Given the description of an element on the screen output the (x, y) to click on. 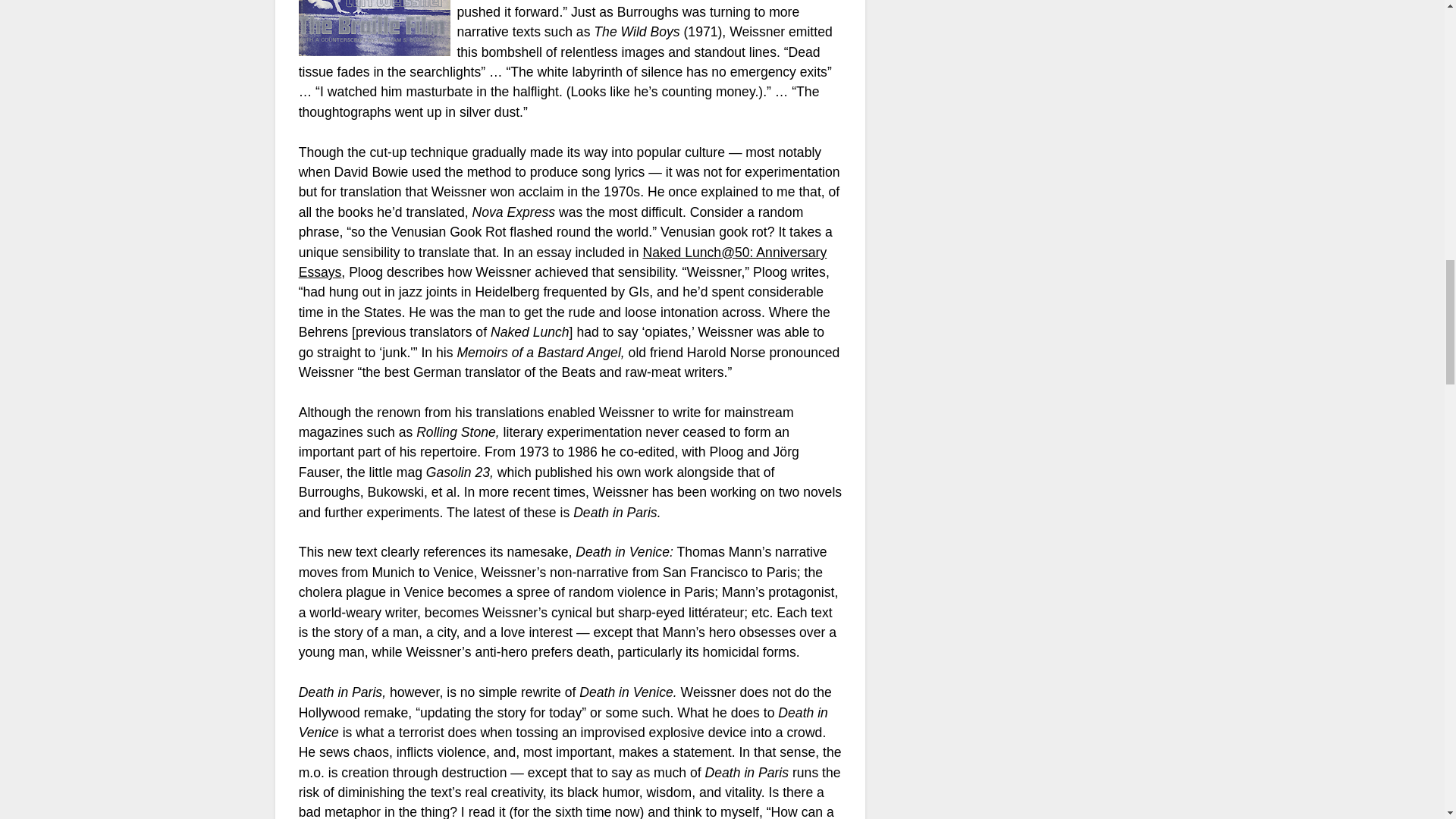
Carl Weissner, Braille Film (373, 28)
